Given the description of an element on the screen output the (x, y) to click on. 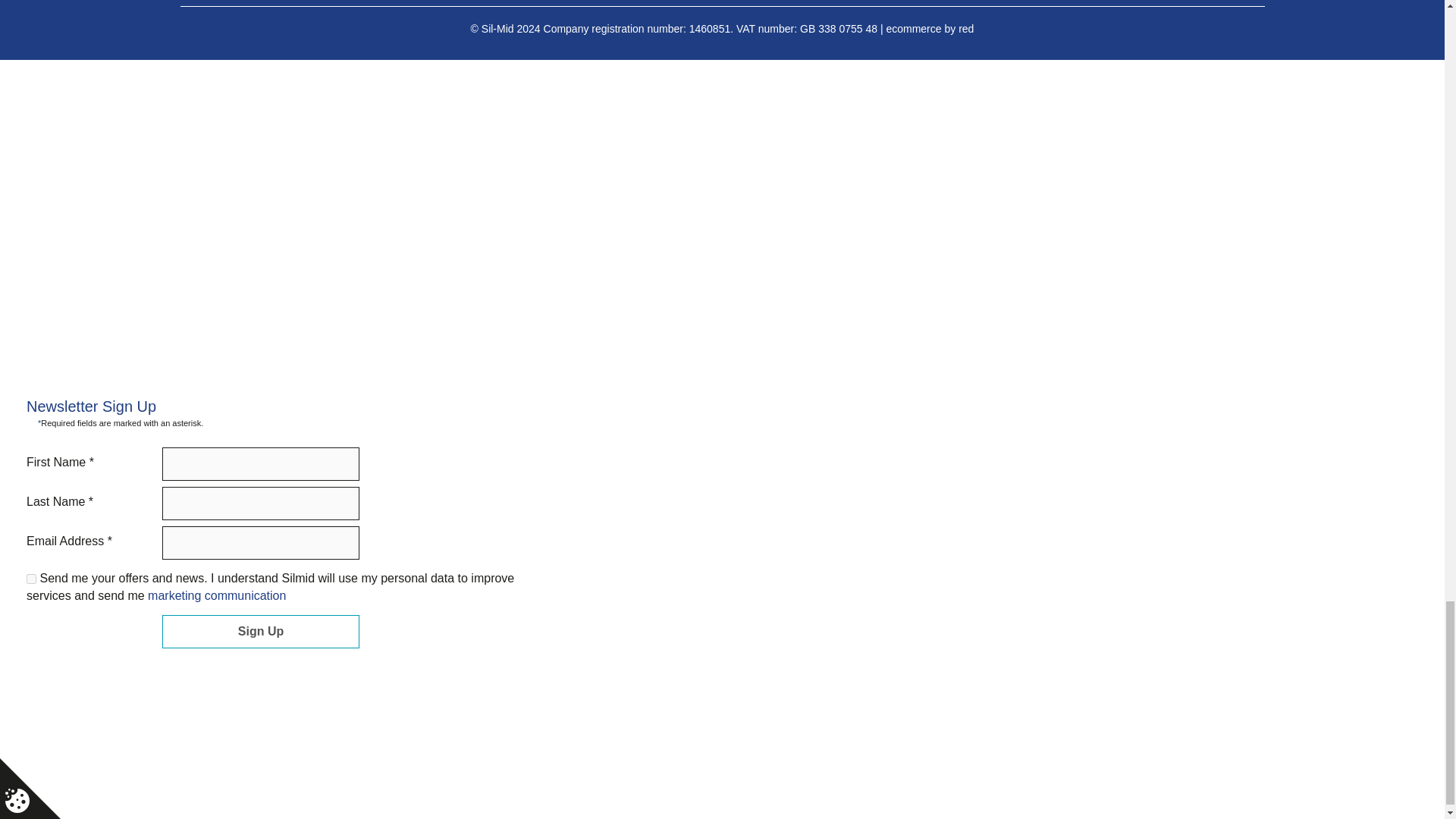
1 (31, 578)
